Given the description of an element on the screen output the (x, y) to click on. 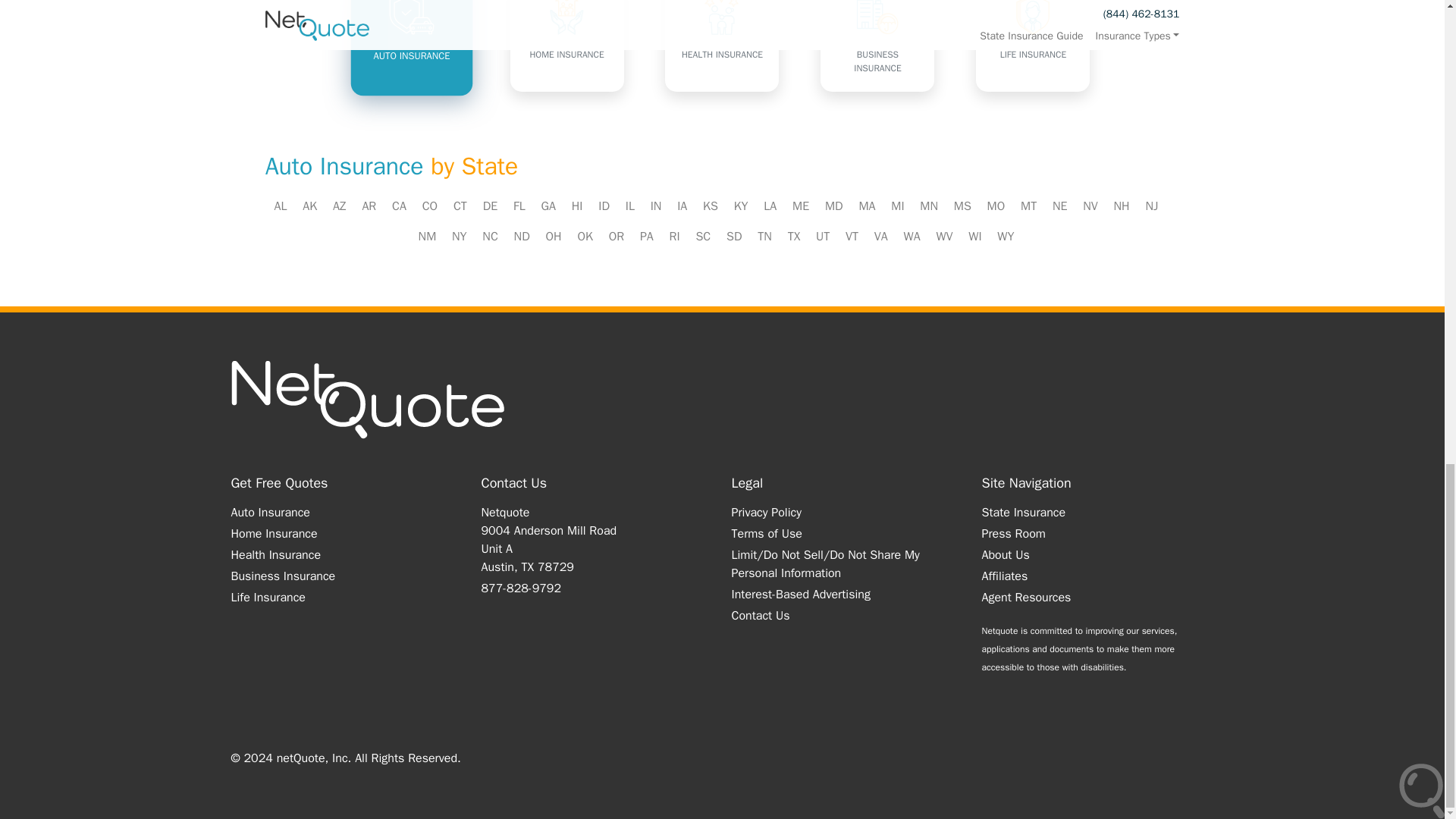
HOME INSURANCE (567, 45)
AZ (339, 206)
AK (309, 206)
AUTO INSURANCE (407, 43)
HEALTH INSURANCE (721, 45)
BUSINESS INSURANCE (877, 45)
AL (280, 206)
CA (398, 206)
AR (368, 206)
LIFE INSURANCE (1032, 45)
